Given the description of an element on the screen output the (x, y) to click on. 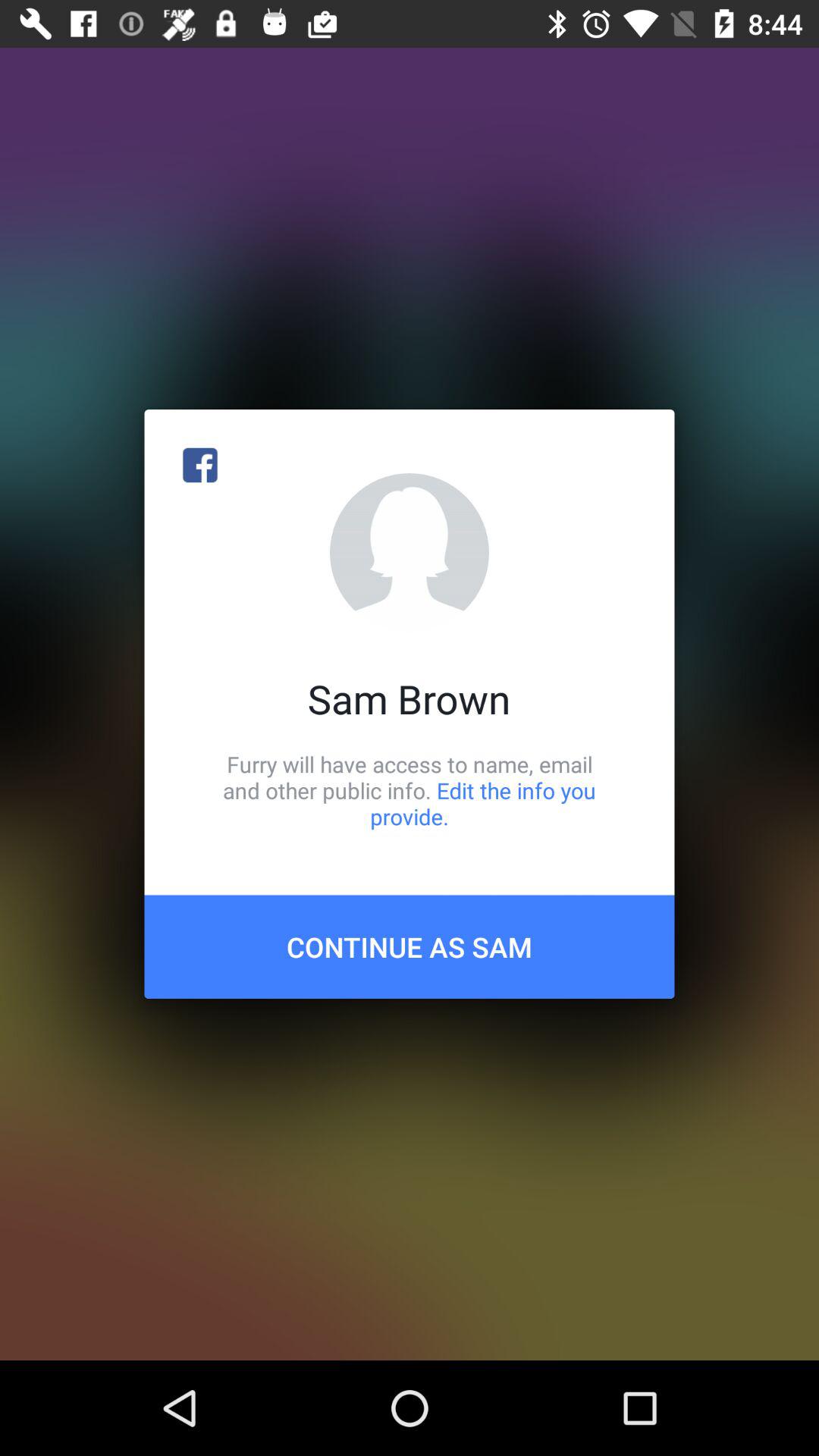
choose icon below the furry will have (409, 946)
